Given the description of an element on the screen output the (x, y) to click on. 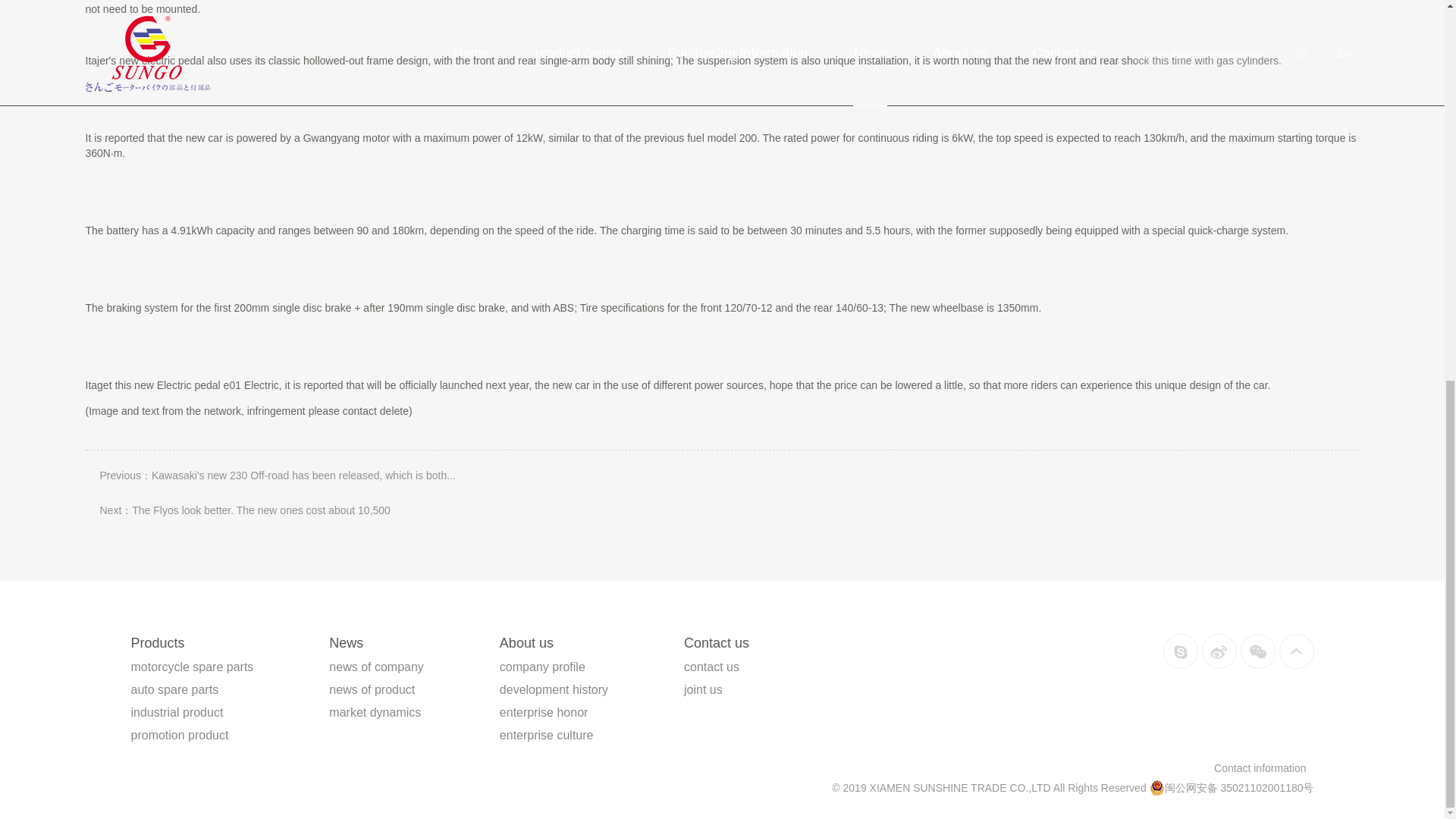
news of product (371, 689)
share to WeChat (1257, 651)
motorcycle spare parts (192, 666)
promotion product (179, 735)
auto spare parts (174, 689)
industrial product (176, 712)
news of company (376, 666)
share to Sina Weibo (1218, 651)
